Given the description of an element on the screen output the (x, y) to click on. 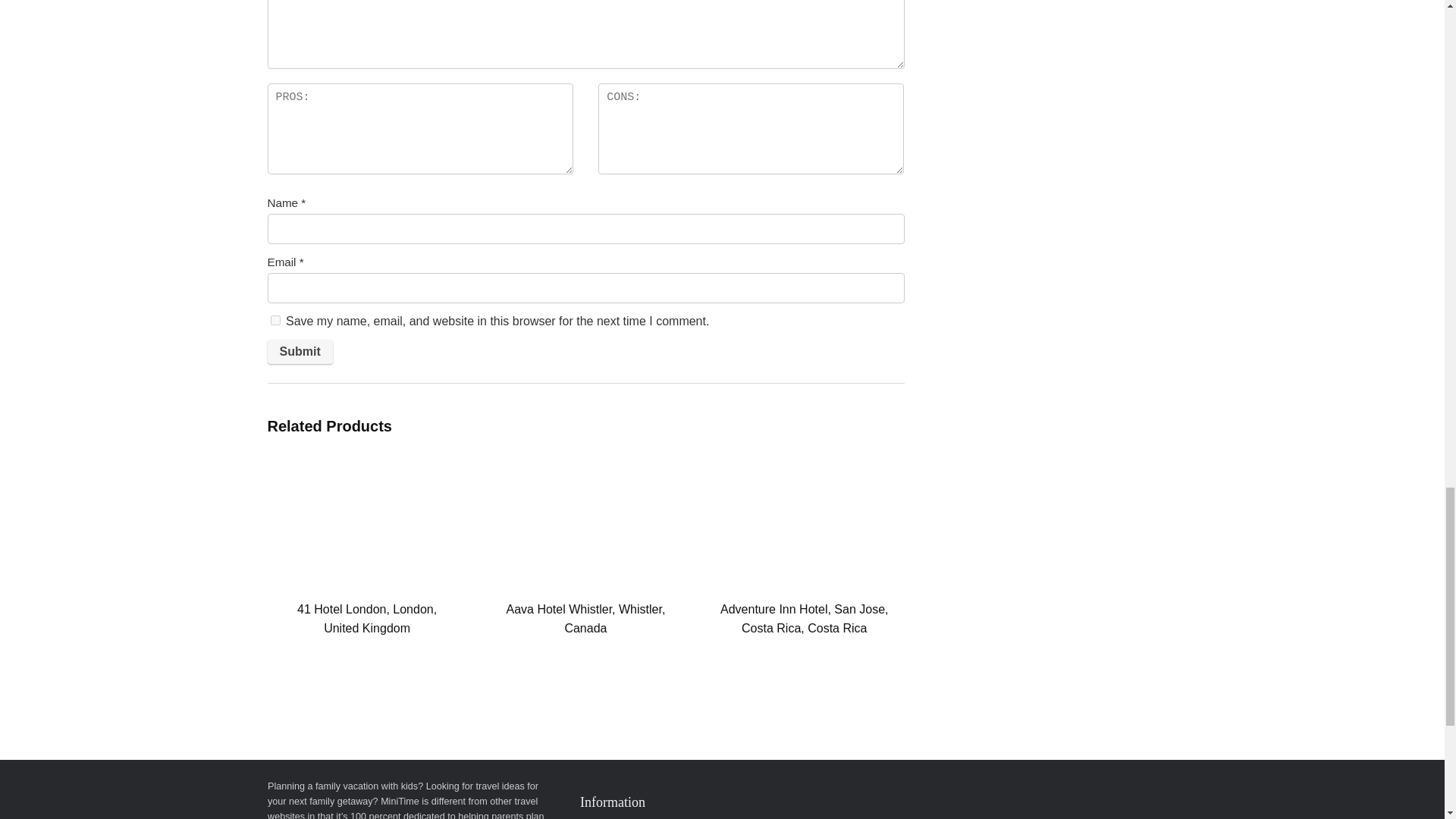
41 Hotel London, London, United Kingdom (366, 618)
Submit (298, 351)
yes (274, 320)
Submit (298, 351)
Adventure Inn Hotel, San Jose, Costa Rica, Costa Rica (804, 618)
Aava Hotel Whistler, Whistler, Canada (585, 618)
